Given the description of an element on the screen output the (x, y) to click on. 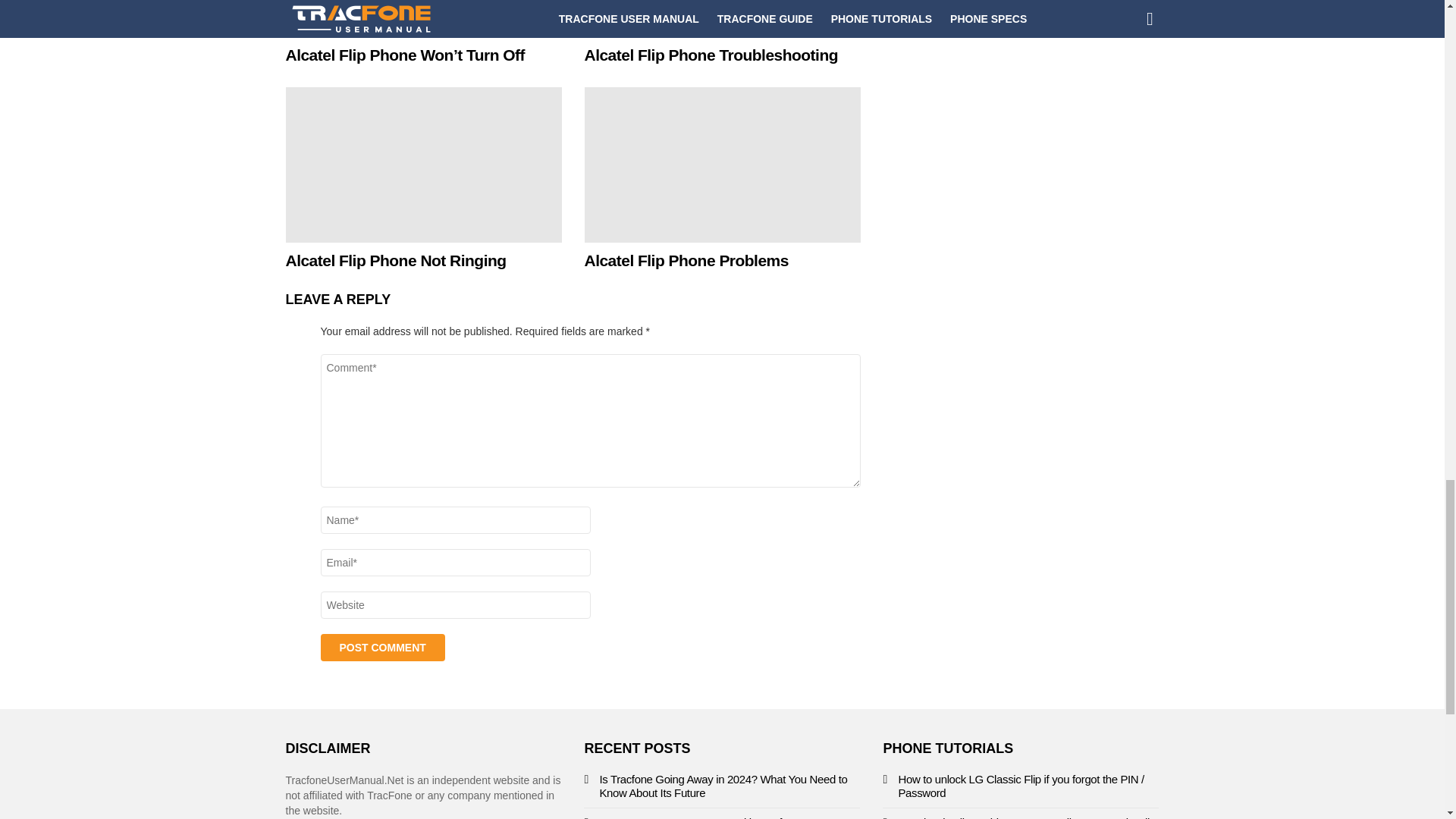
Alcatel Flip Phone Troubleshooting (710, 54)
Alcatel Flip Phone Not Ringing (395, 260)
Smart Ways to Save Money with Tracfone (698, 817)
Alcatel Flip Phone Troubleshooting (721, 18)
Alcatel Flip Phone Not Ringing (422, 164)
Alcatel Flip Phone Problems (685, 260)
Post Comment (382, 646)
Alcatel Flip Phone Problems (721, 164)
Post Comment (382, 646)
